Given the description of an element on the screen output the (x, y) to click on. 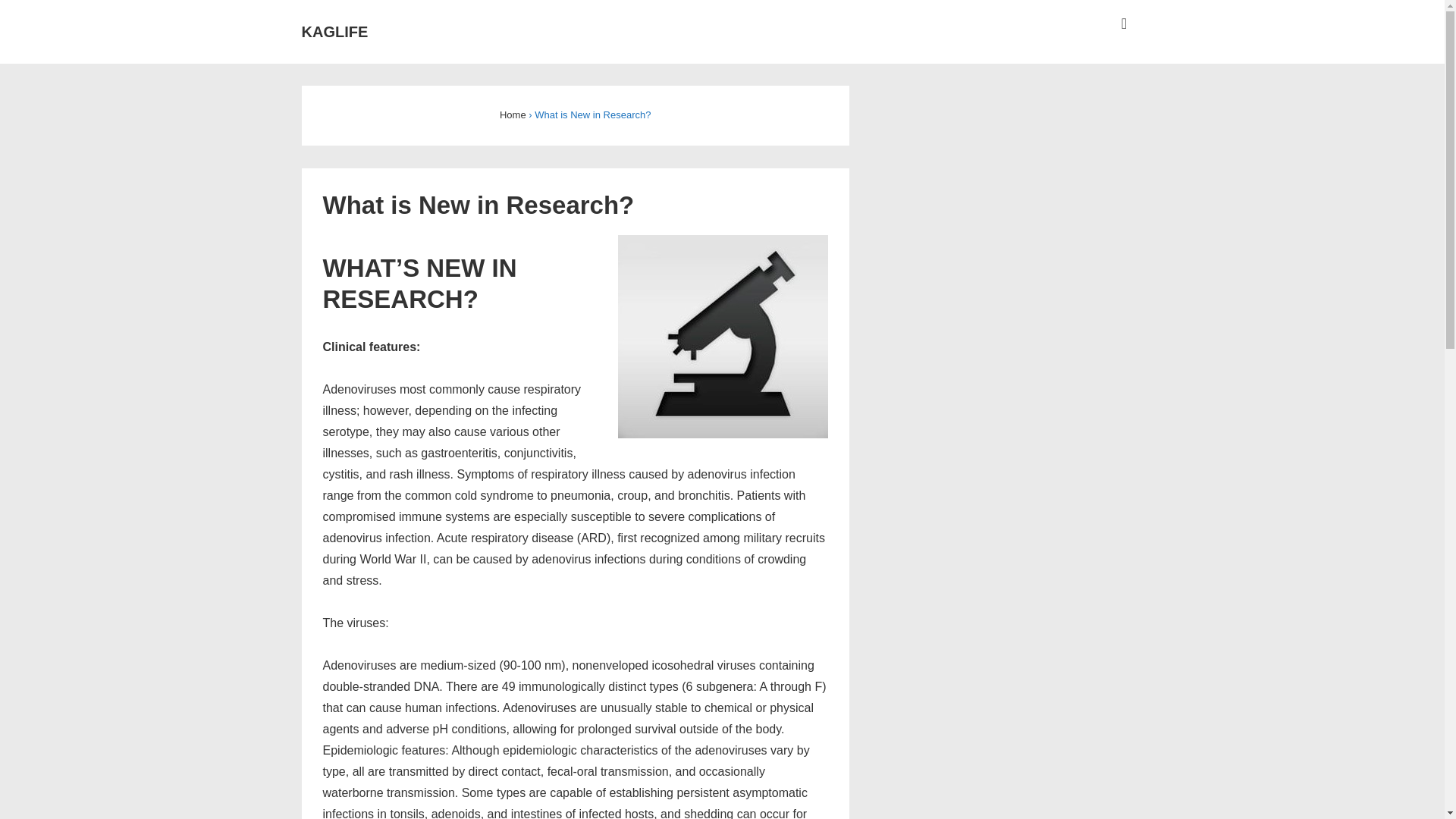
Home (512, 114)
KAGLIFE (334, 31)
MENU (1123, 23)
microscope (722, 336)
